Given the description of an element on the screen output the (x, y) to click on. 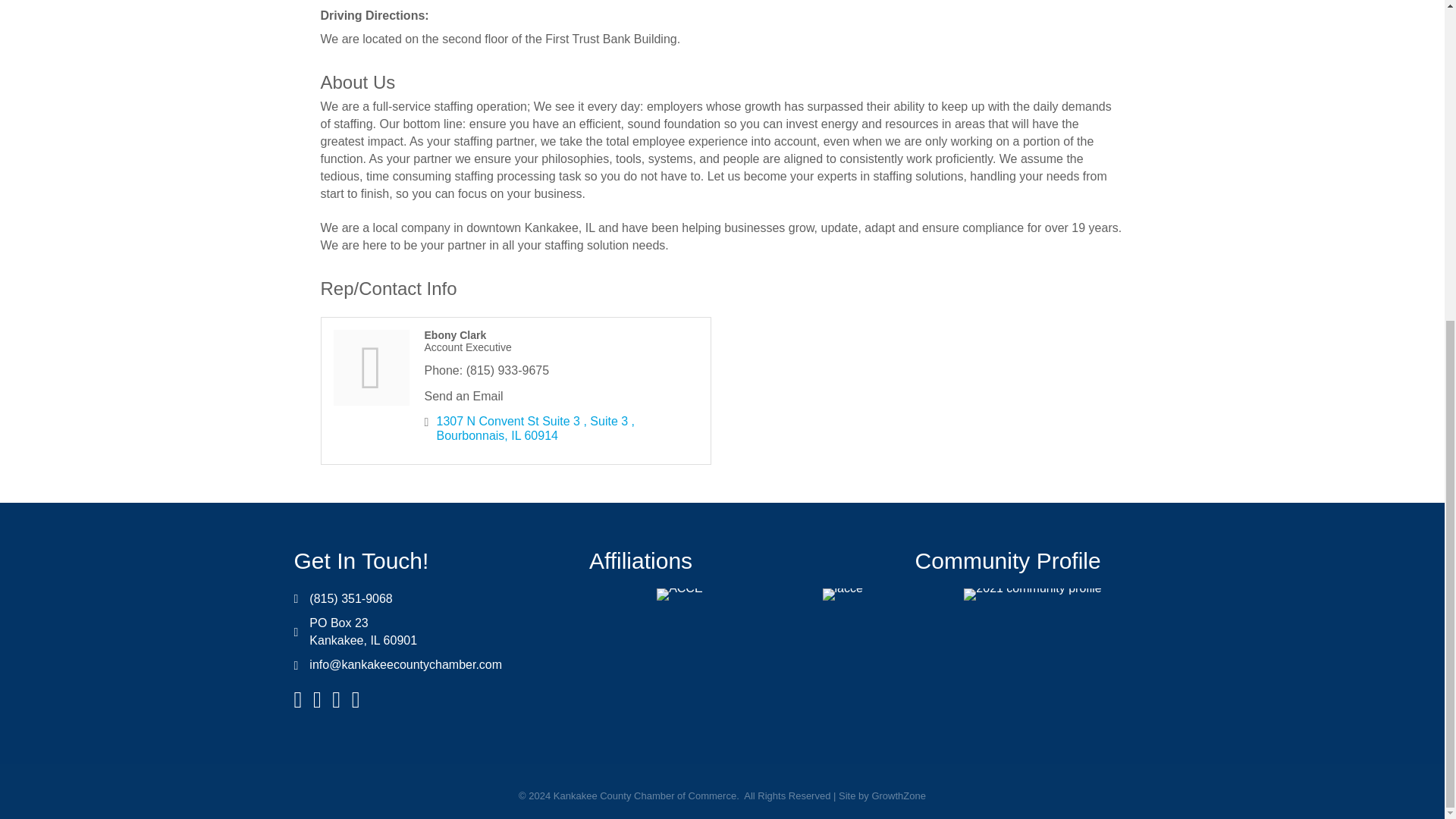
ACCE (678, 594)
iacce (842, 594)
Community Profile (1007, 560)
communityprofile-2021-h150 (1031, 594)
